Given the description of an element on the screen output the (x, y) to click on. 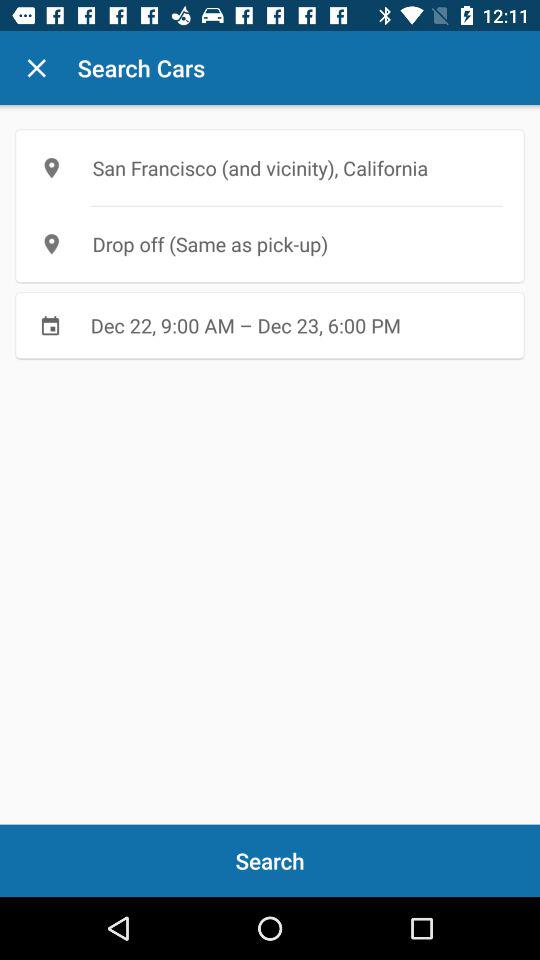
press icon to the left of search cars item (36, 68)
